Given the description of an element on the screen output the (x, y) to click on. 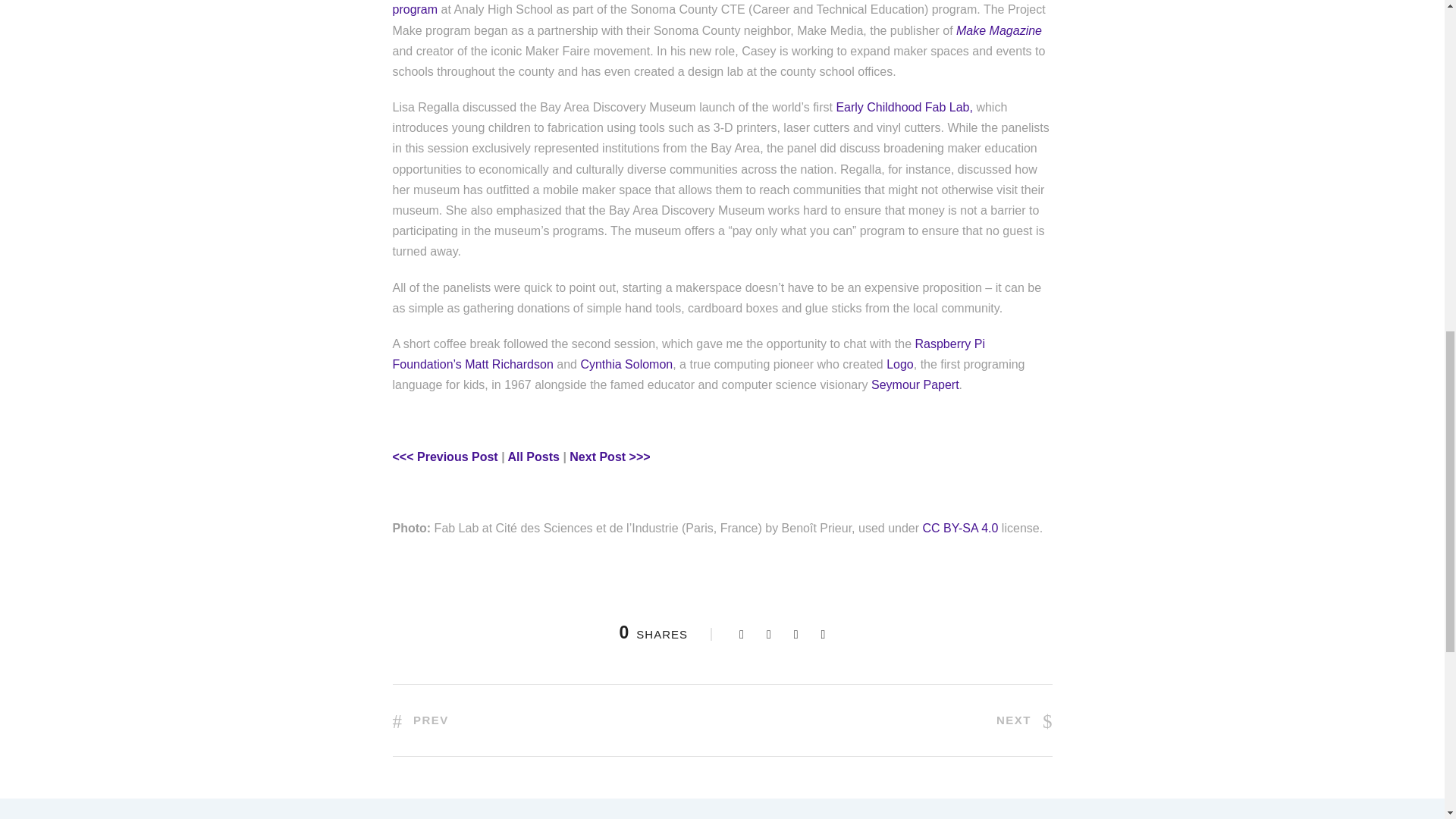
Early Childhood Fab Lab, (903, 106)
Cynthia Solomon (625, 364)
Matt Richardson (508, 364)
Make Magazine (999, 30)
